Given the description of an element on the screen output the (x, y) to click on. 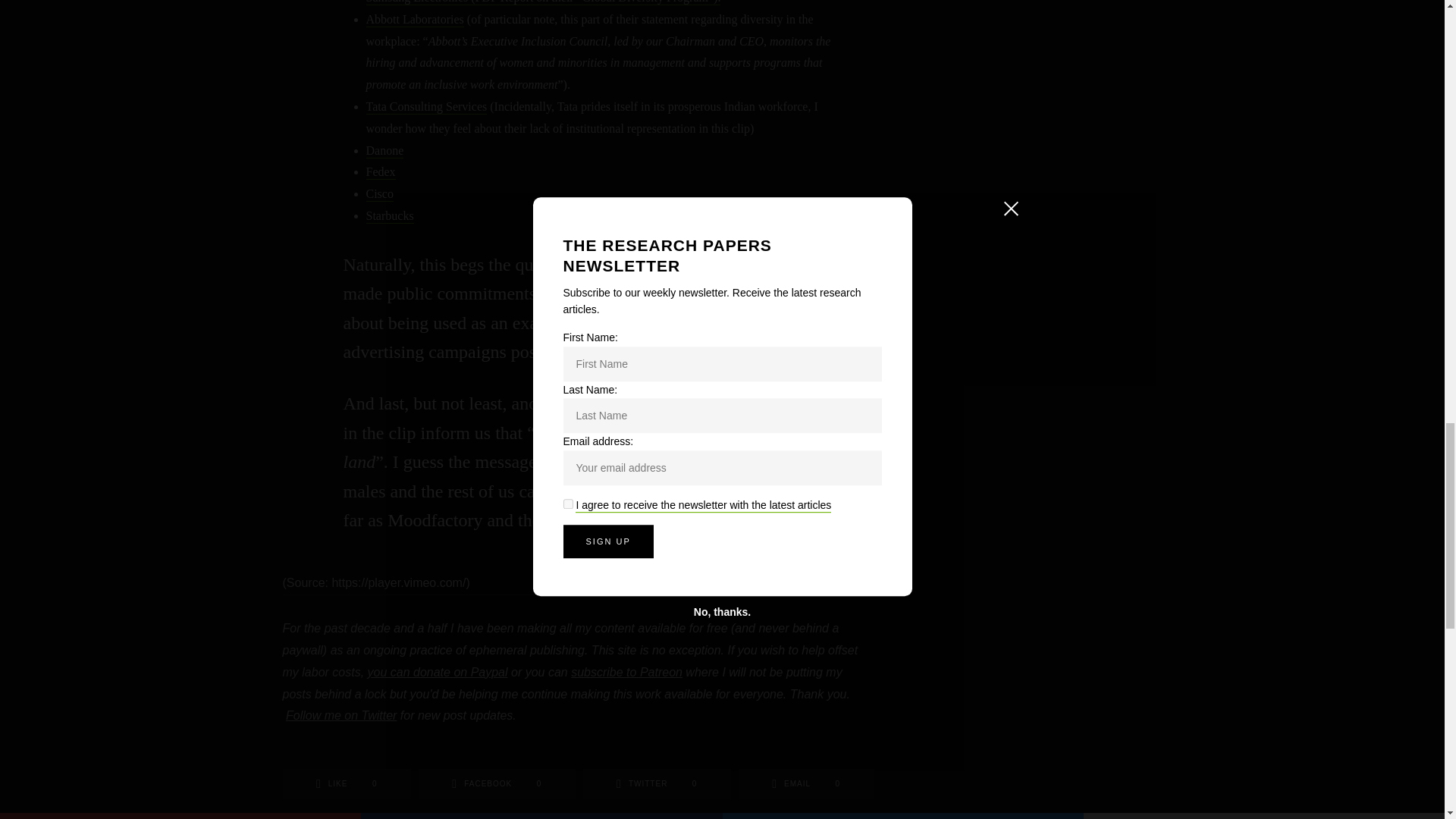
Tata Consulting Services (425, 106)
Cisco (379, 194)
you can donate on Paypal (438, 671)
Facebook (497, 784)
Email (806, 784)
Twitter (656, 784)
Like (346, 784)
Danone (384, 151)
Abbott Laboratories (414, 20)
Fedex (379, 172)
Starbucks (389, 216)
